Given the description of an element on the screen output the (x, y) to click on. 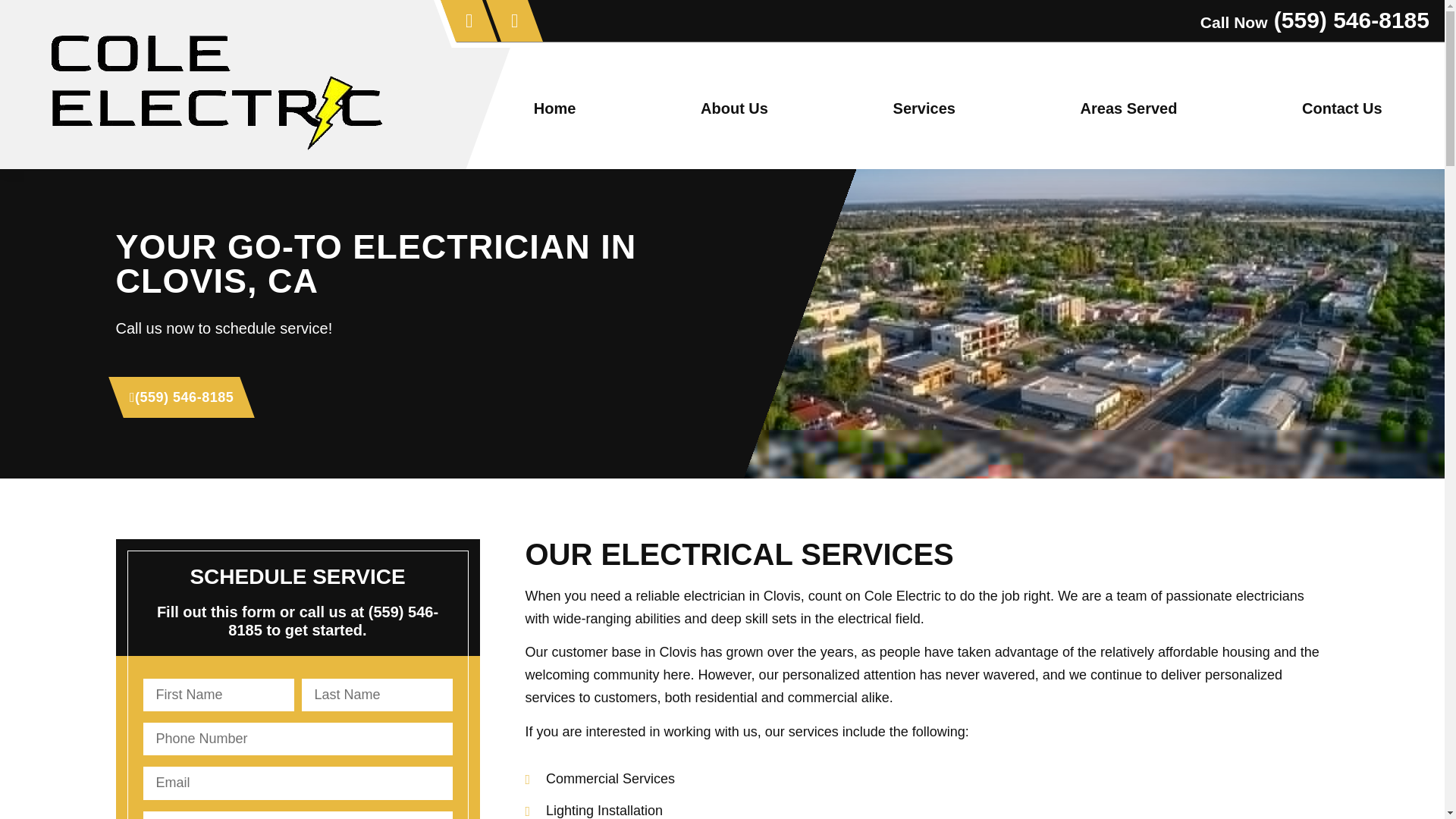
Services (923, 107)
Areas Served (1128, 107)
Home (555, 107)
About Us (735, 107)
